Given the description of an element on the screen output the (x, y) to click on. 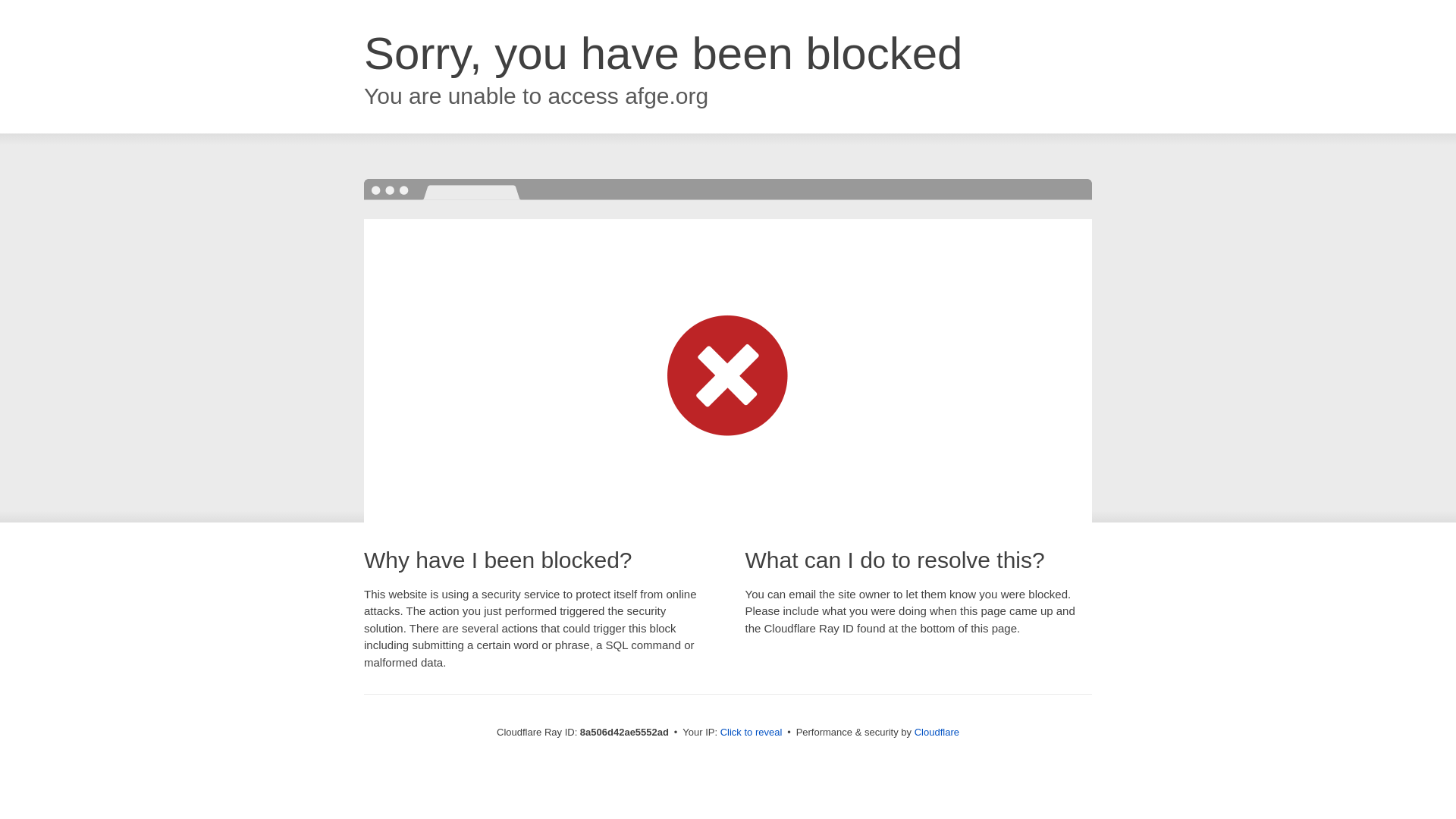
Click to reveal (751, 732)
Cloudflare (936, 731)
